Given the description of an element on the screen output the (x, y) to click on. 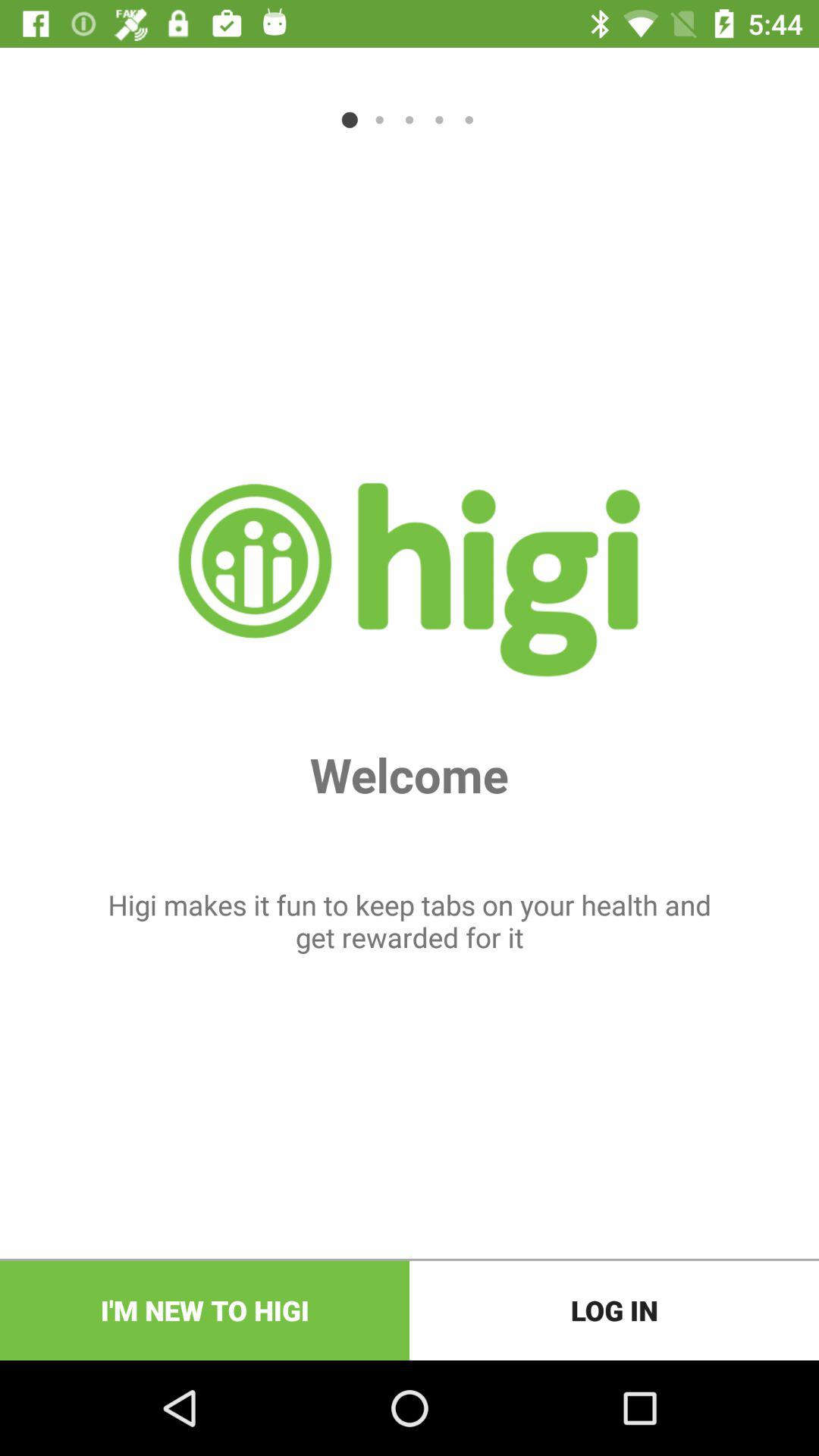
turn on the log in at the bottom right corner (614, 1310)
